Given the description of an element on the screen output the (x, y) to click on. 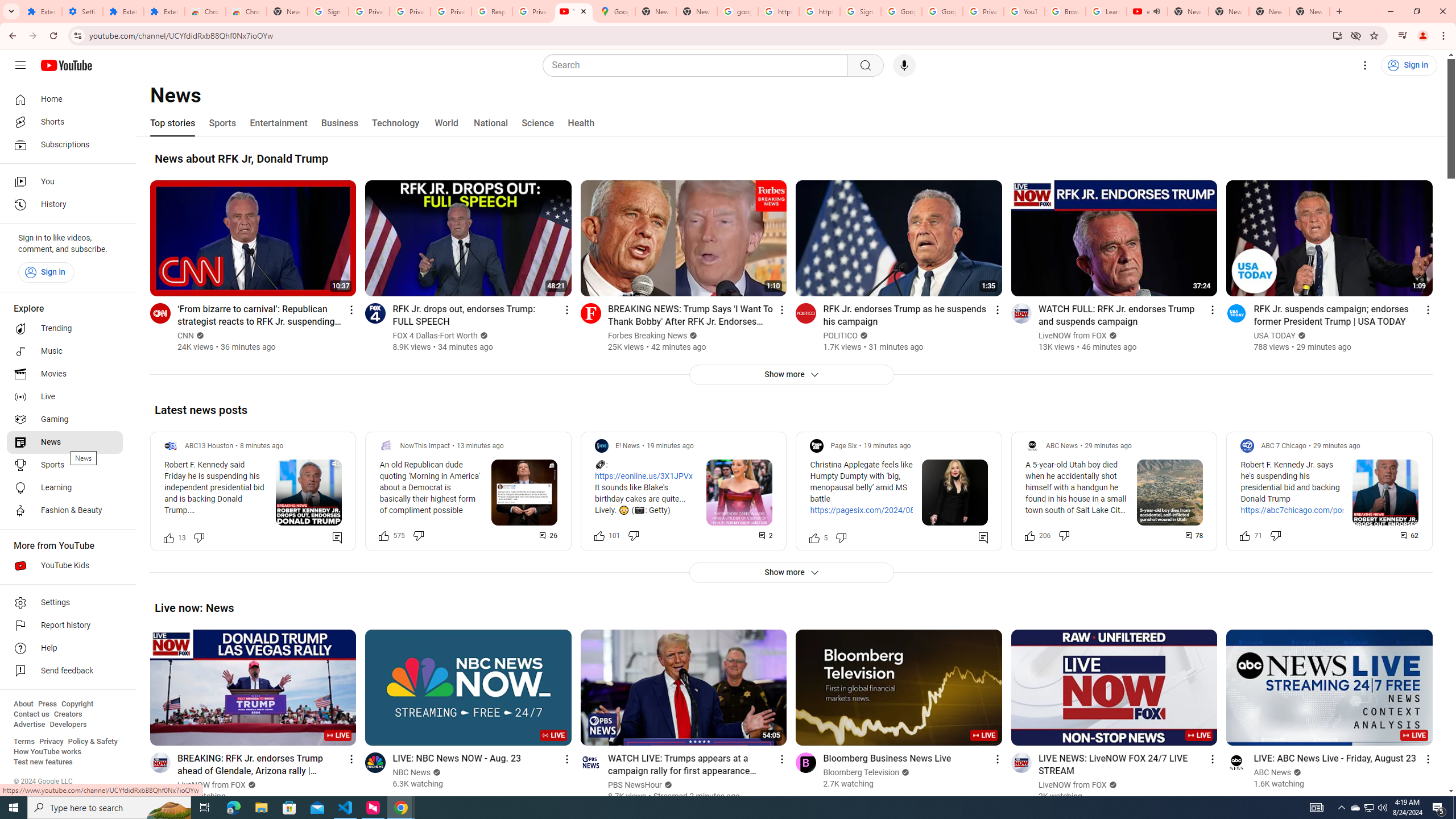
New Tab (287, 11)
Movies (64, 373)
Settings (64, 602)
Like this post along with 575 other people (383, 534)
Search (865, 65)
Report history (64, 625)
Search with your voice (903, 65)
Policy & Safety (91, 741)
Control your music, videos, and more (1402, 35)
Home (64, 99)
National (490, 122)
Extensions (163, 11)
Developers (68, 724)
Sports (221, 122)
